Given the description of an element on the screen output the (x, y) to click on. 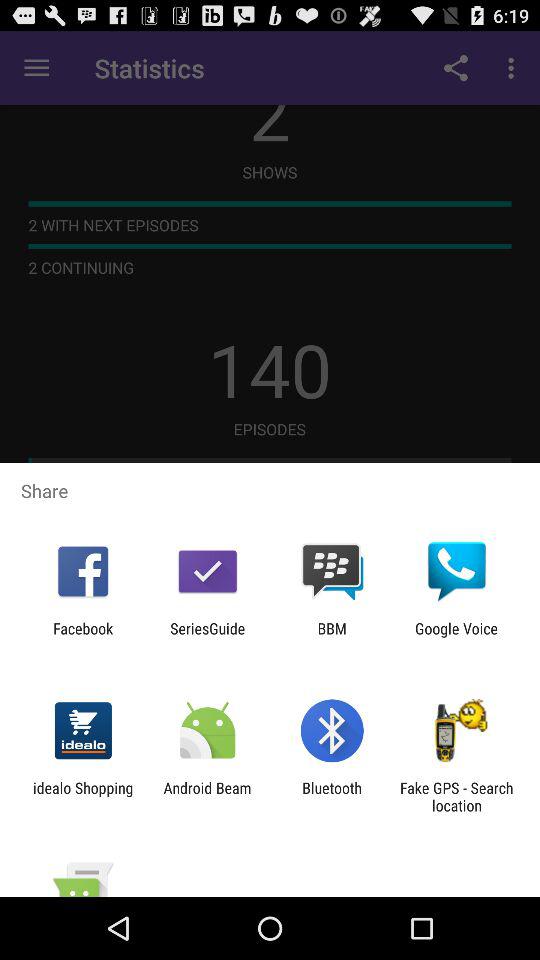
open seriesguide item (207, 637)
